Given the description of an element on the screen output the (x, y) to click on. 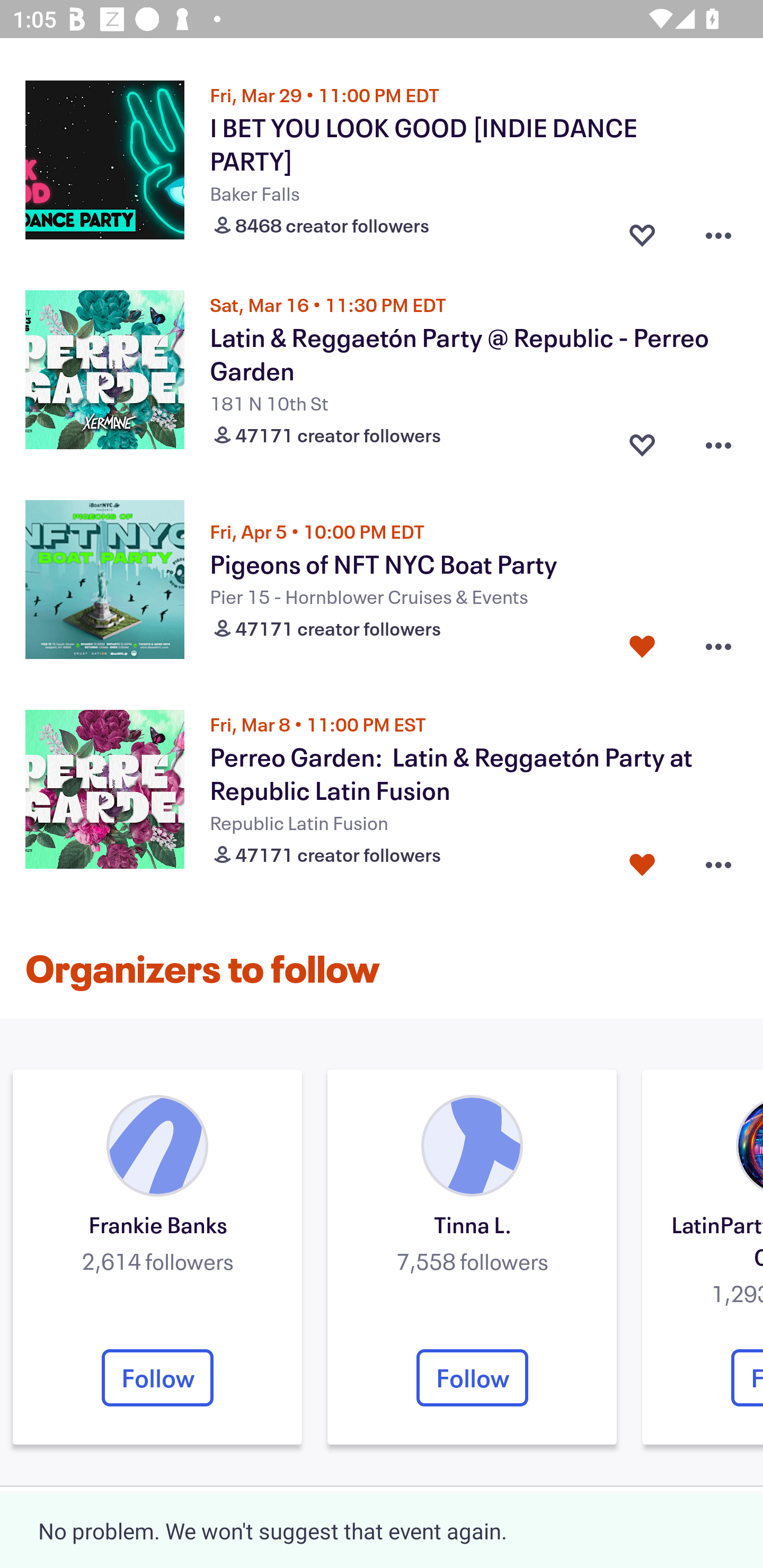
Favorite button (642, 230)
Overflow menu button (718, 230)
Favorite button (642, 441)
Overflow menu button (718, 441)
Favorite button (642, 645)
Overflow menu button (718, 645)
Favorite button (642, 859)
Overflow menu button (718, 859)
Follow Organizer's follow button (157, 1377)
Follow Organizer's follow button (471, 1377)
Home (76, 1526)
Search events (228, 1526)
Favorites (381, 1526)
Tickets (533, 1526)
More (686, 1526)
